Given the description of an element on the screen output the (x, y) to click on. 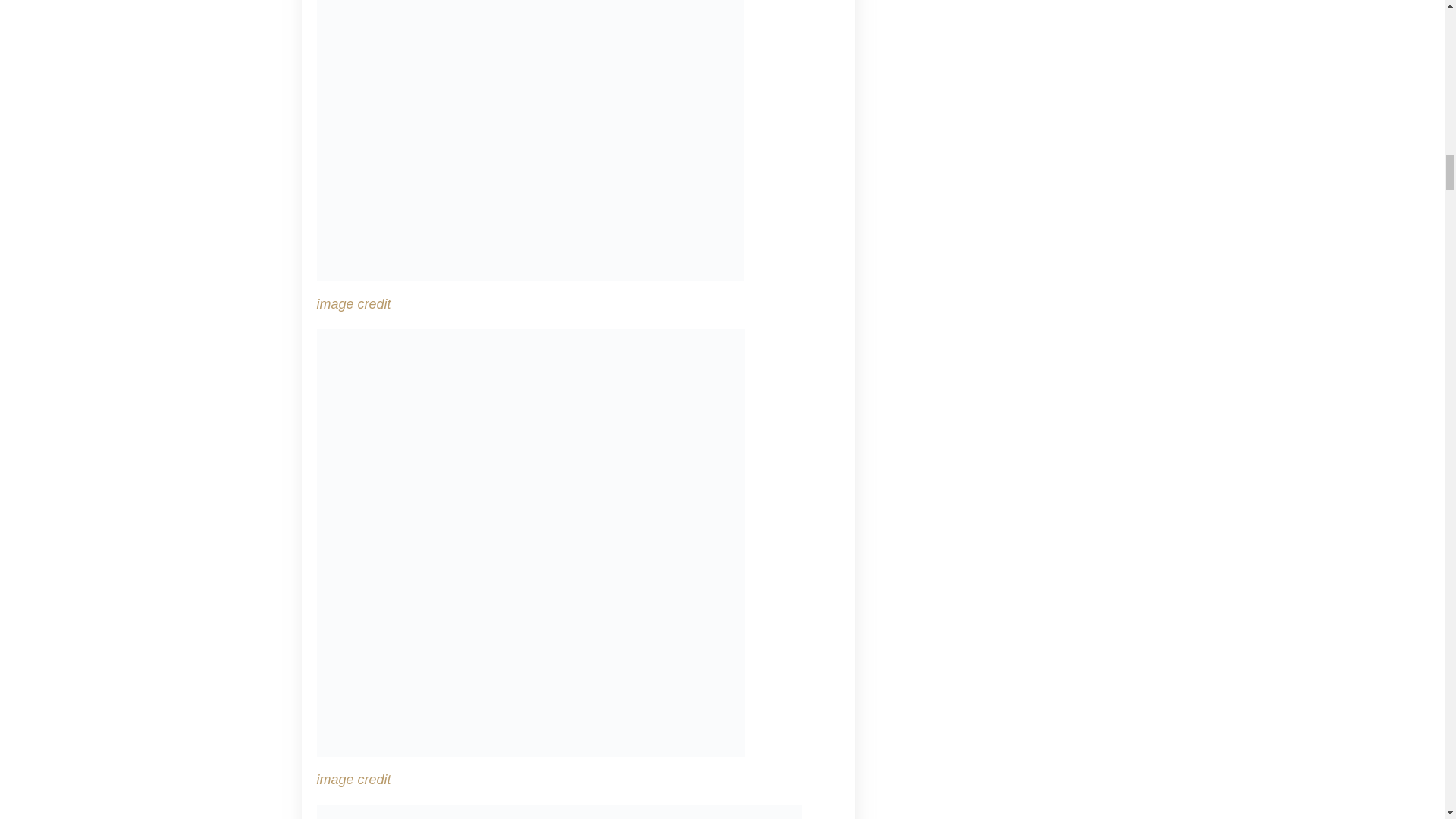
image credit (354, 779)
image credit (354, 304)
